Given the description of an element on the screen output the (x, y) to click on. 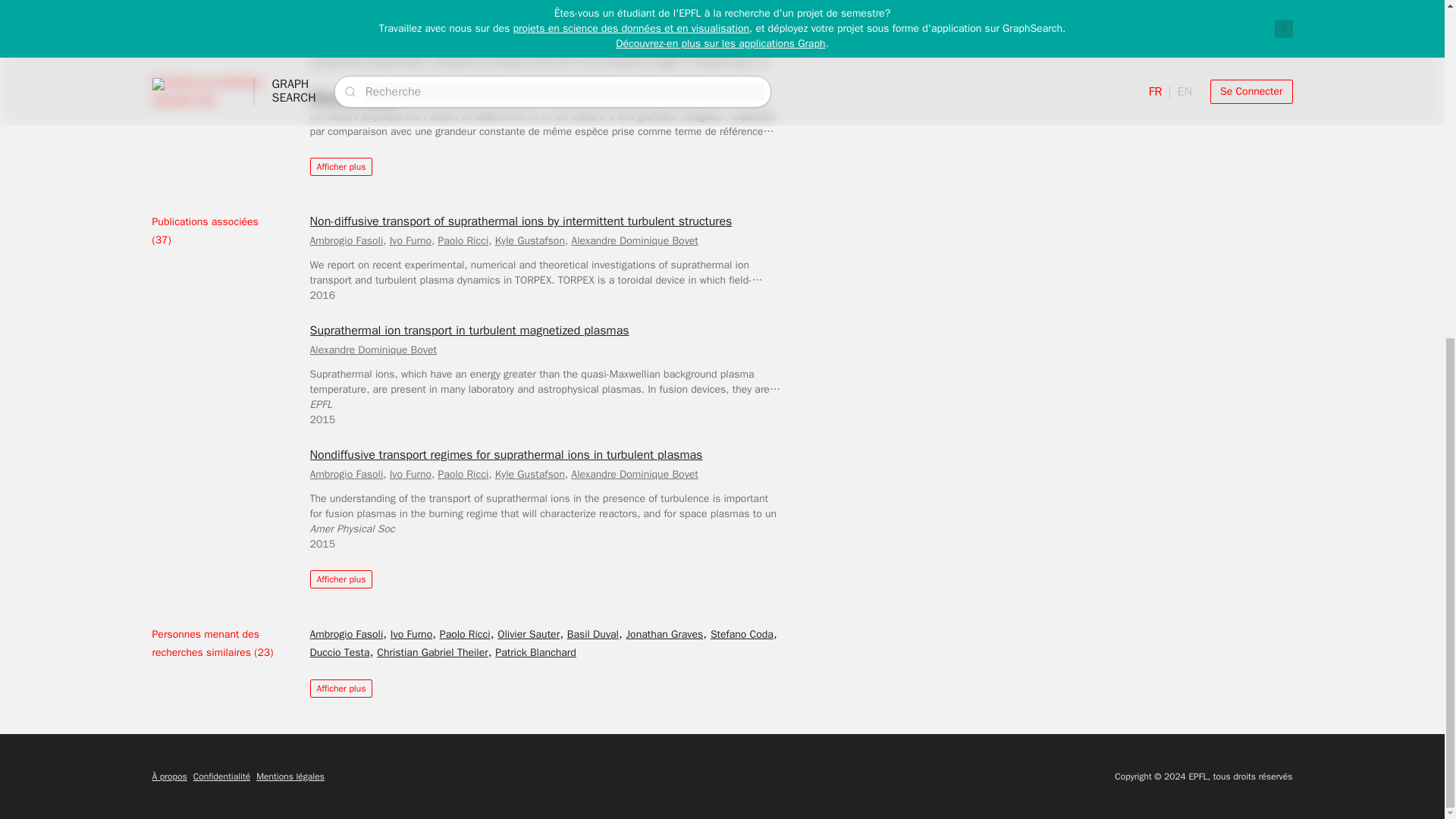
Paolo Ricci (462, 240)
Alexandre Dominique Bovet (633, 240)
Kyle Gustafson (529, 240)
Suprathermal ion transport in turbulent magnetized plasmas (468, 330)
Mesure physique (353, 96)
Ambrogio Fasoli (345, 240)
Conducteur superionique (374, 27)
Afficher plus (340, 167)
Ambrogio Fasoli (345, 473)
Alexandre Dominique Bovet (371, 349)
Ivo Furno (410, 240)
